Given the description of an element on the screen output the (x, y) to click on. 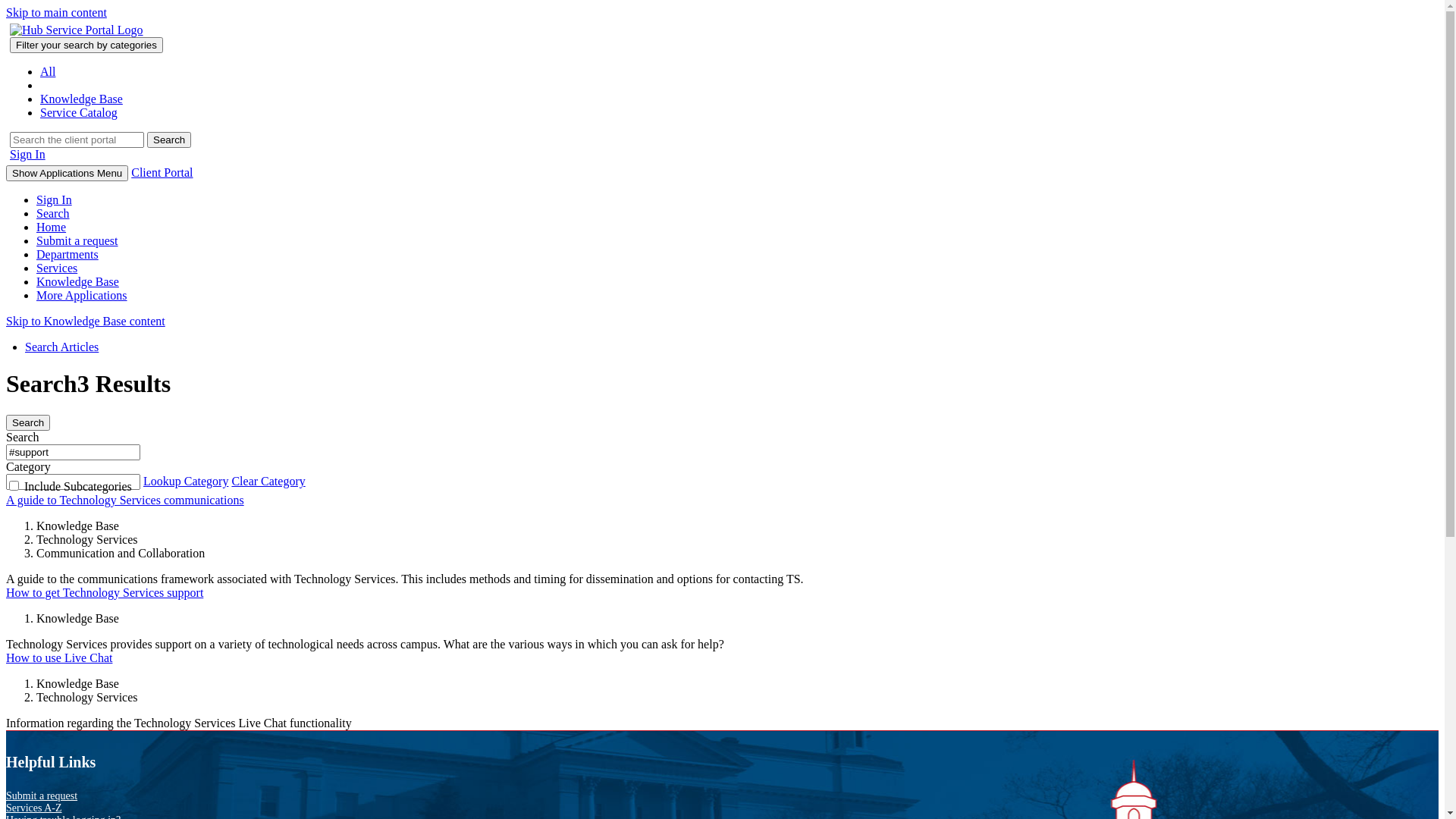
Search Articles Element type: text (61, 346)
Services A-Z Element type: text (33, 807)
How to use Live Chat Element type: text (59, 657)
Submit a request Element type: text (77, 240)
Search Element type: text (28, 422)
Sign In Element type: text (27, 153)
Filter your search by categories Element type: text (86, 45)
Show Applications Menu Element type: text (67, 173)
How to get Technology Services support Element type: text (104, 592)
All Element type: text (47, 71)
Lookup Category Element type: text (185, 480)
Skip to main content Element type: text (56, 12)
Client Portal Element type: text (161, 172)
Home Element type: text (50, 226)
Clear Category Element type: text (267, 480)
Knowledge Base Element type: text (77, 281)
Knowledge Base Element type: text (81, 98)
More Applications Element type: text (81, 294)
Submit a request Element type: text (41, 795)
A guide to Technology Services communications Element type: text (125, 499)
Skip to Knowledge Base content Element type: text (85, 320)
Search Element type: text (169, 139)
Sign In Element type: text (54, 199)
Services Element type: text (56, 267)
Departments Element type: text (67, 253)
Search Element type: text (52, 213)
Service Catalog Element type: text (78, 112)
